Given the description of an element on the screen output the (x, y) to click on. 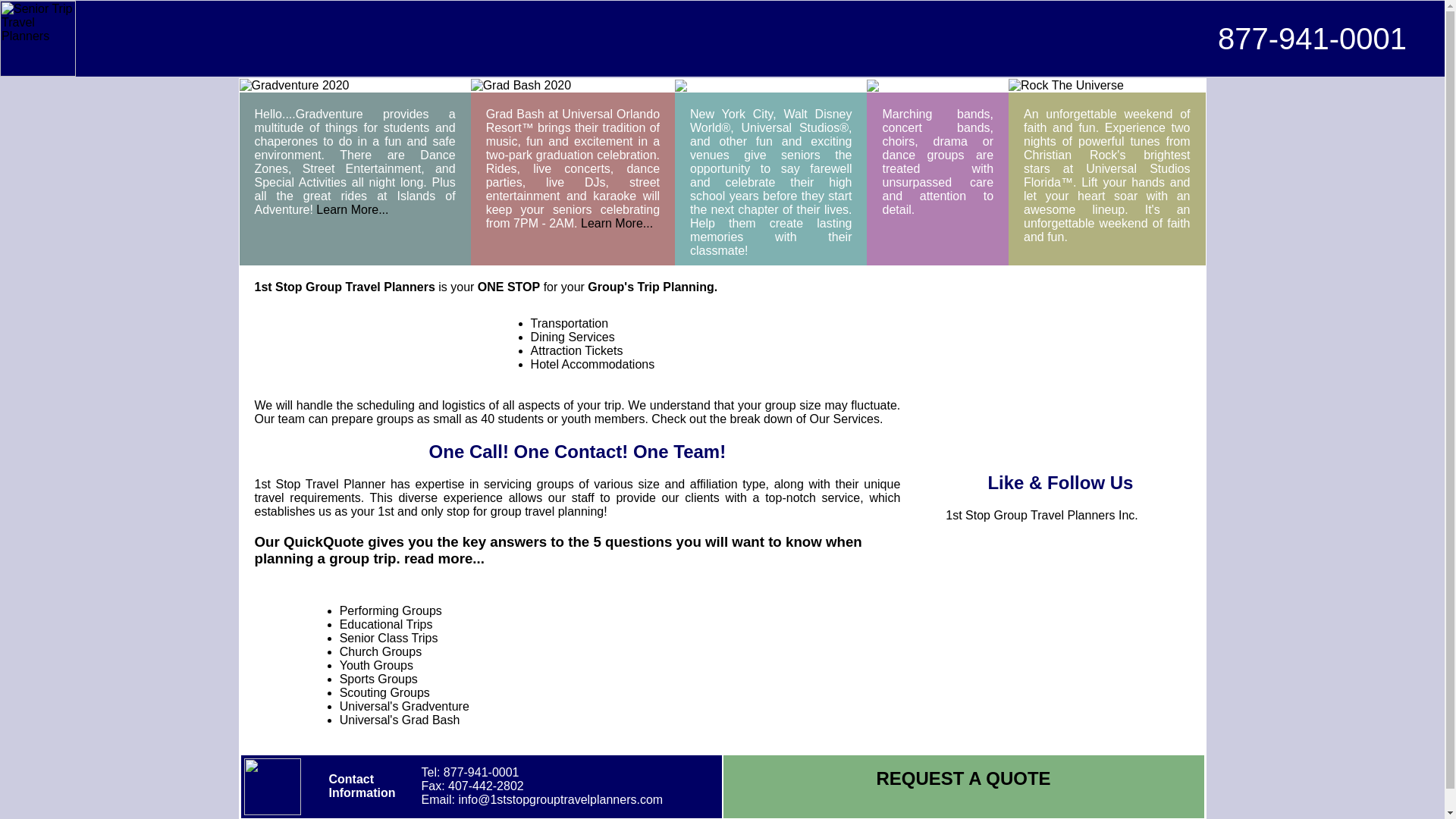
877-941-0001 Element type: text (1311, 37)
Learn More... Element type: text (616, 222)
1st Stop Group Travel Planners Inc. Element type: text (1041, 514)
info@1ststopgrouptravelplanners.com Element type: text (560, 799)
Learn More... Element type: text (352, 209)
REQUEST A QUOTE Element type: text (962, 778)
Our Services Element type: text (843, 418)
read more... Element type: text (444, 558)
QuickQuote Element type: text (323, 541)
